Given the description of an element on the screen output the (x, y) to click on. 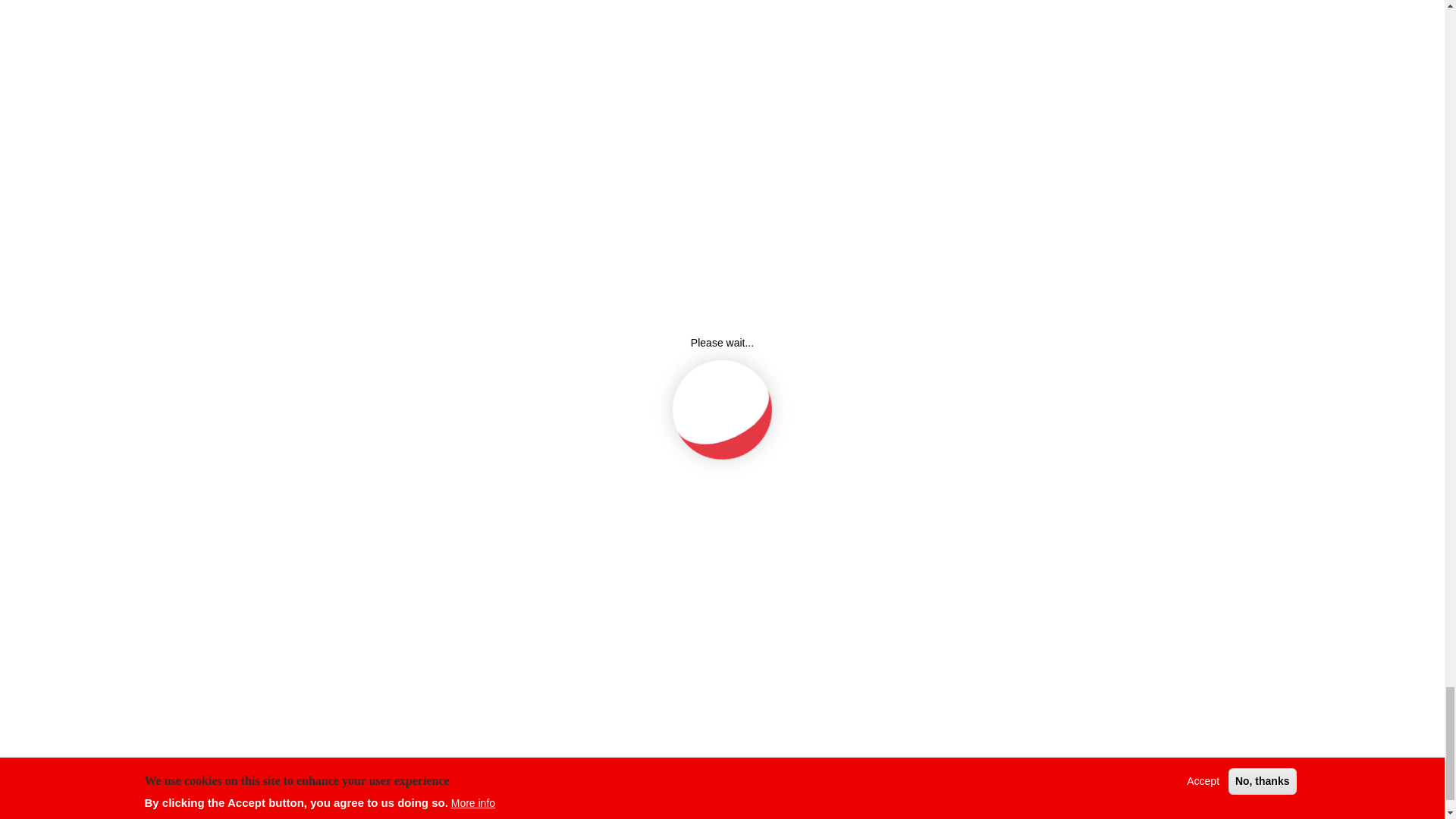
Kit Laboral (985, 627)
Privacy Policy (766, 596)
Kyo Electric (988, 596)
Anti-corruption Policy (783, 659)
Contact us (985, 659)
Management Policy (780, 627)
Cookies (980, 565)
